Given the description of an element on the screen output the (x, y) to click on. 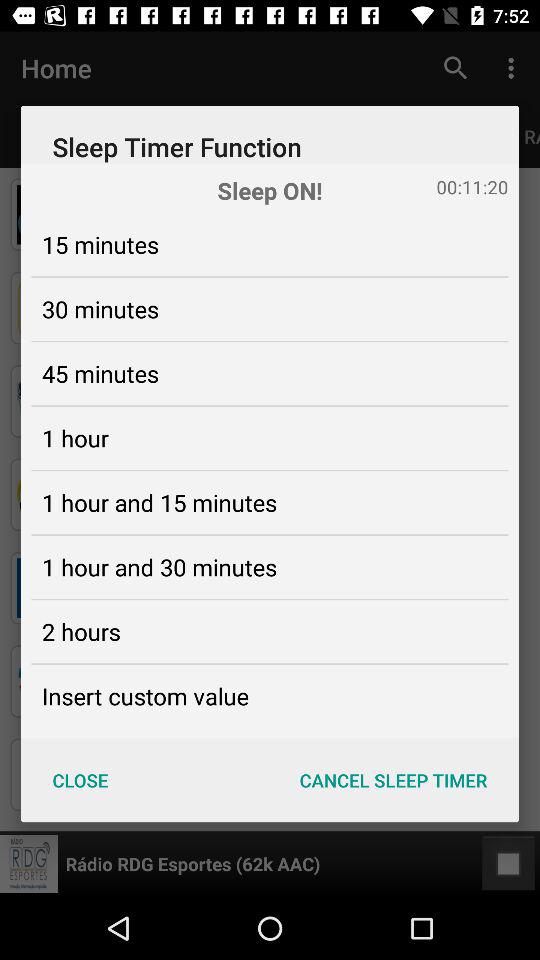
launch item below the 2 hours item (145, 696)
